Given the description of an element on the screen output the (x, y) to click on. 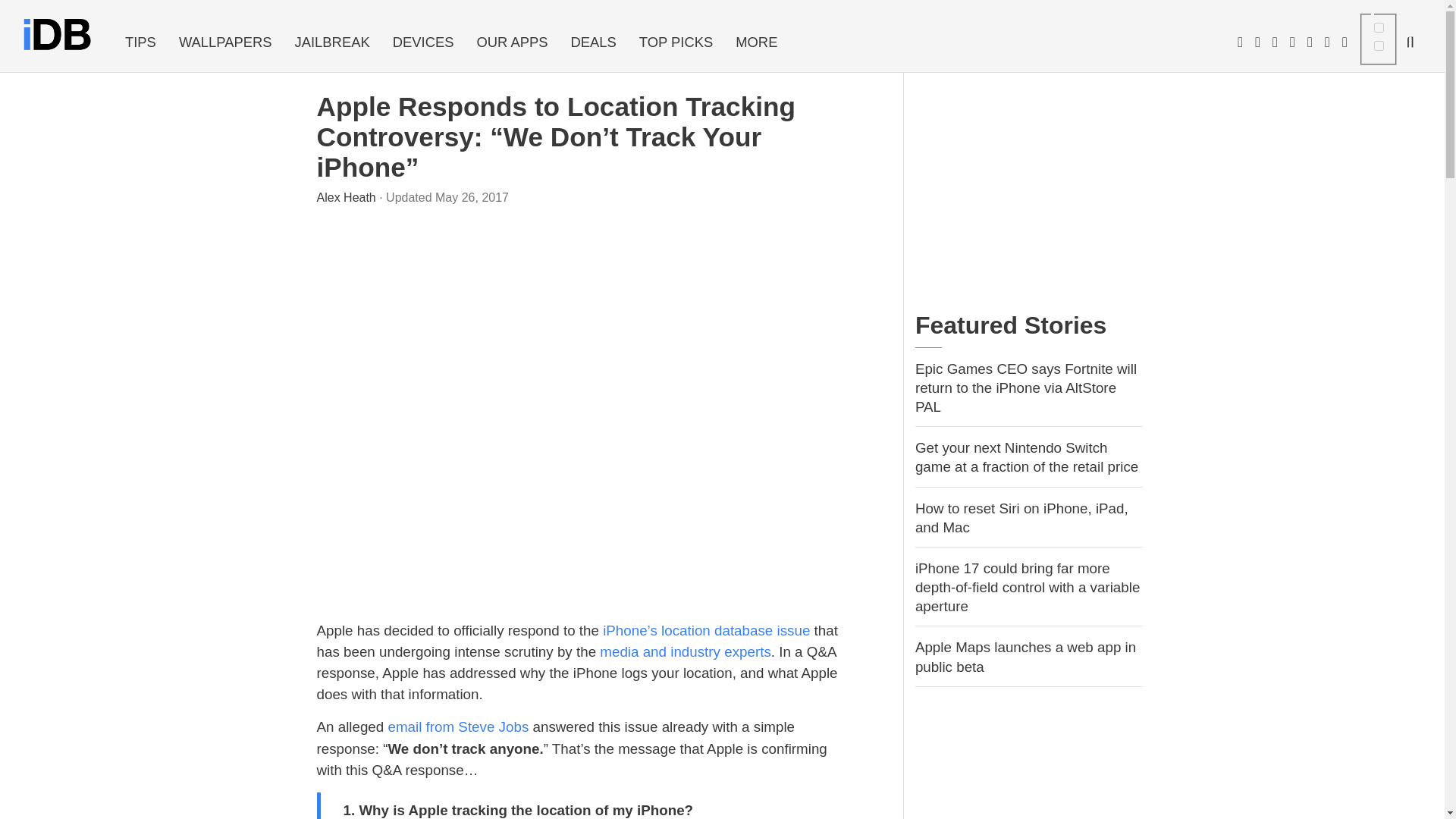
JAILBREAK (332, 42)
WALLPAPERS (225, 42)
Tips (140, 42)
Wallpapers (225, 42)
OUR APPS (511, 42)
TIPS (140, 42)
DEVICES (423, 42)
